Given the description of an element on the screen output the (x, y) to click on. 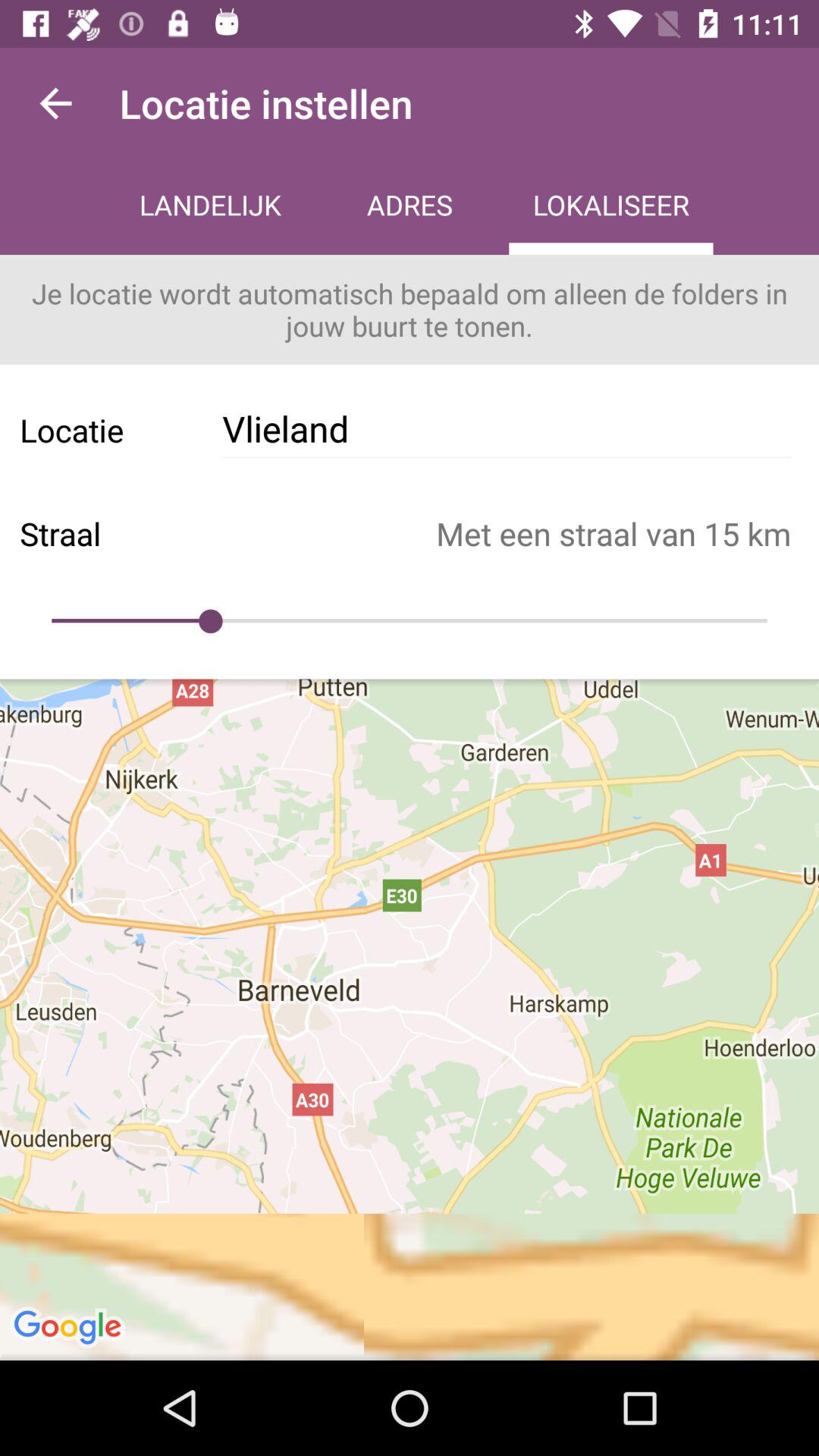
launch item to the left of the lokaliseer item (409, 206)
